Given the description of an element on the screen output the (x, y) to click on. 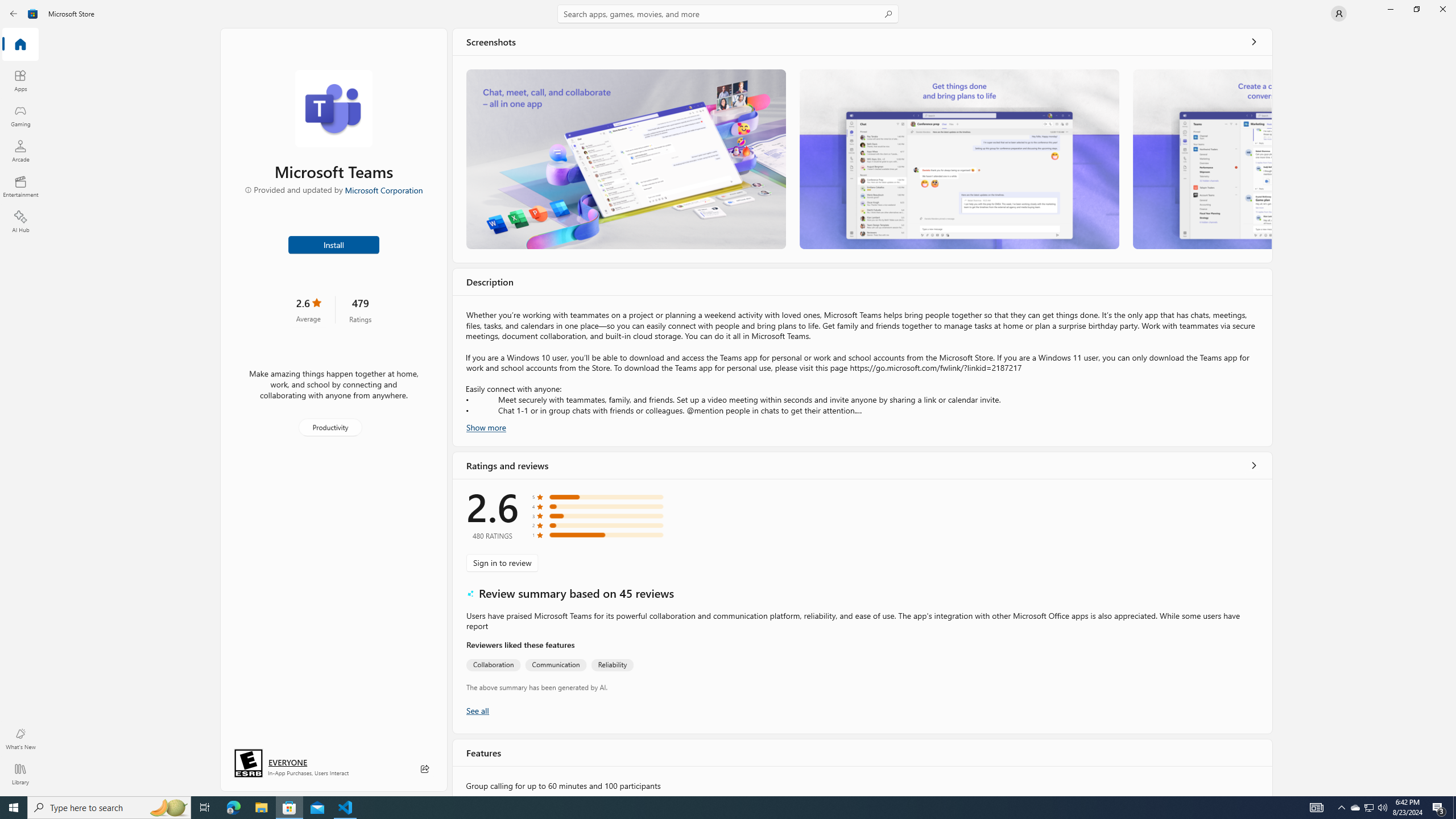
See all (1253, 41)
Screenshot 3 (1201, 158)
Show all ratings and reviews (1253, 465)
Share (424, 769)
Install (334, 244)
Microsoft Corporation (383, 189)
Show all ratings and reviews (477, 710)
Sign in to review (501, 562)
AutomationID: NavigationControl (728, 398)
Search (727, 13)
